Given the description of an element on the screen output the (x, y) to click on. 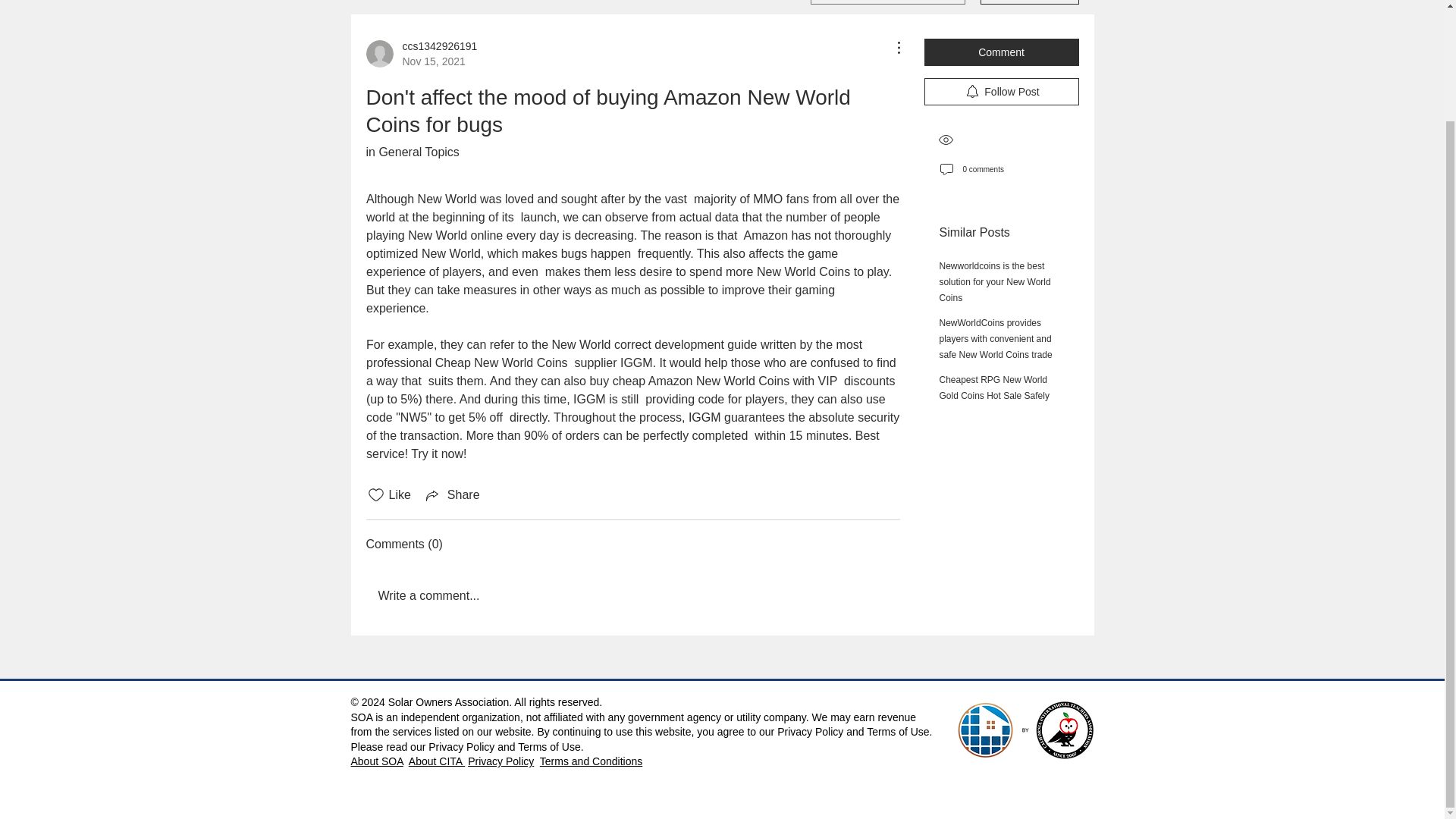
New World Coins (801, 271)
Privacy Policy (500, 761)
Share (451, 495)
Cheap New World Coins (500, 362)
Follow Post (1000, 91)
About CITA  (436, 761)
Terms and Conditions (591, 761)
Comment (1000, 52)
in General Topics (421, 53)
About SOA (411, 151)
Write a comment... (376, 761)
Newworldcoins is the best solution for your New World Coins (632, 595)
SOA LOGO IMAGE.001.png (994, 282)
Cheapest RPG New World Gold Coins Hot Sale Safely (1024, 730)
